Given the description of an element on the screen output the (x, y) to click on. 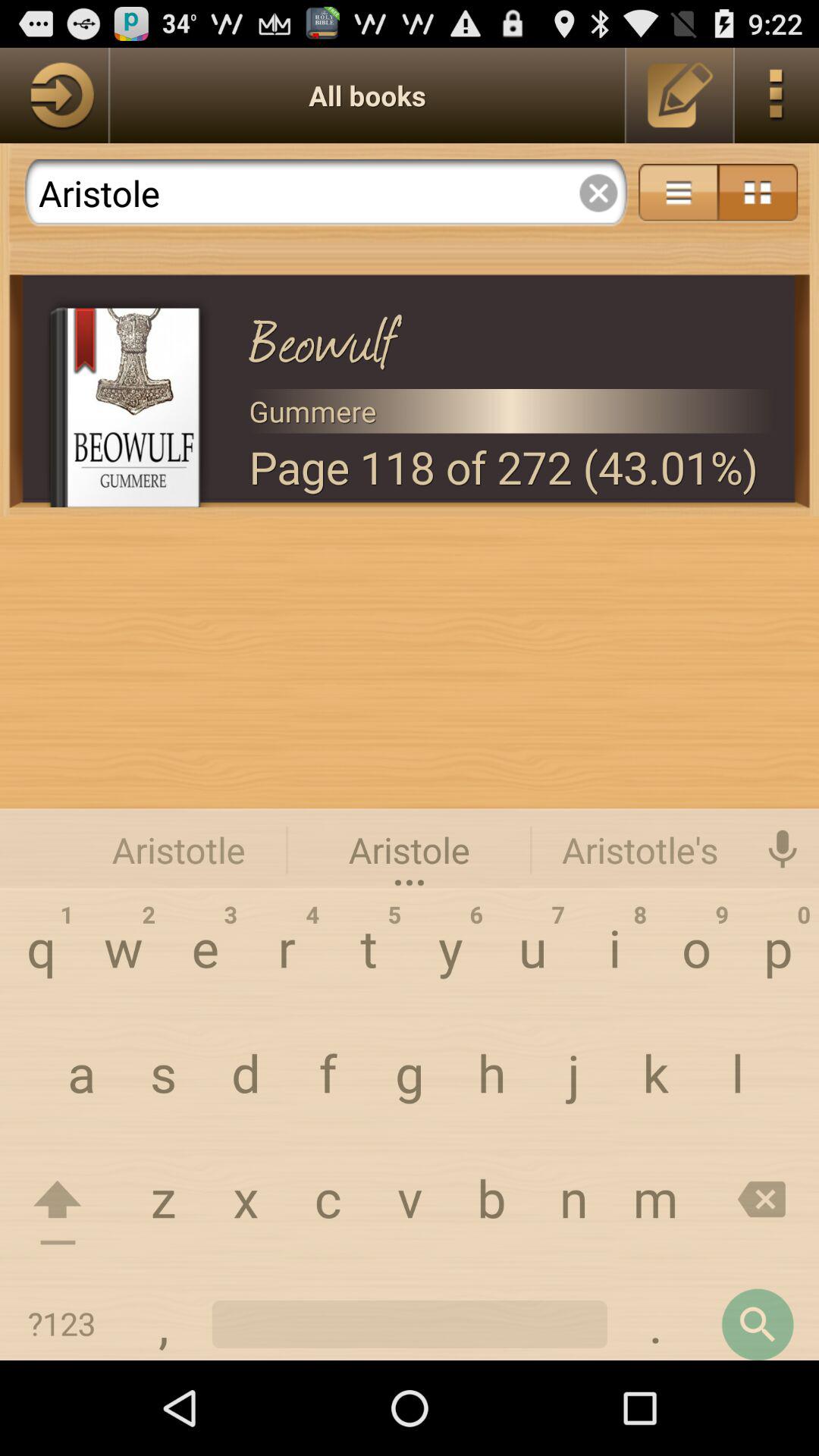
open options (776, 95)
